Given the description of an element on the screen output the (x, y) to click on. 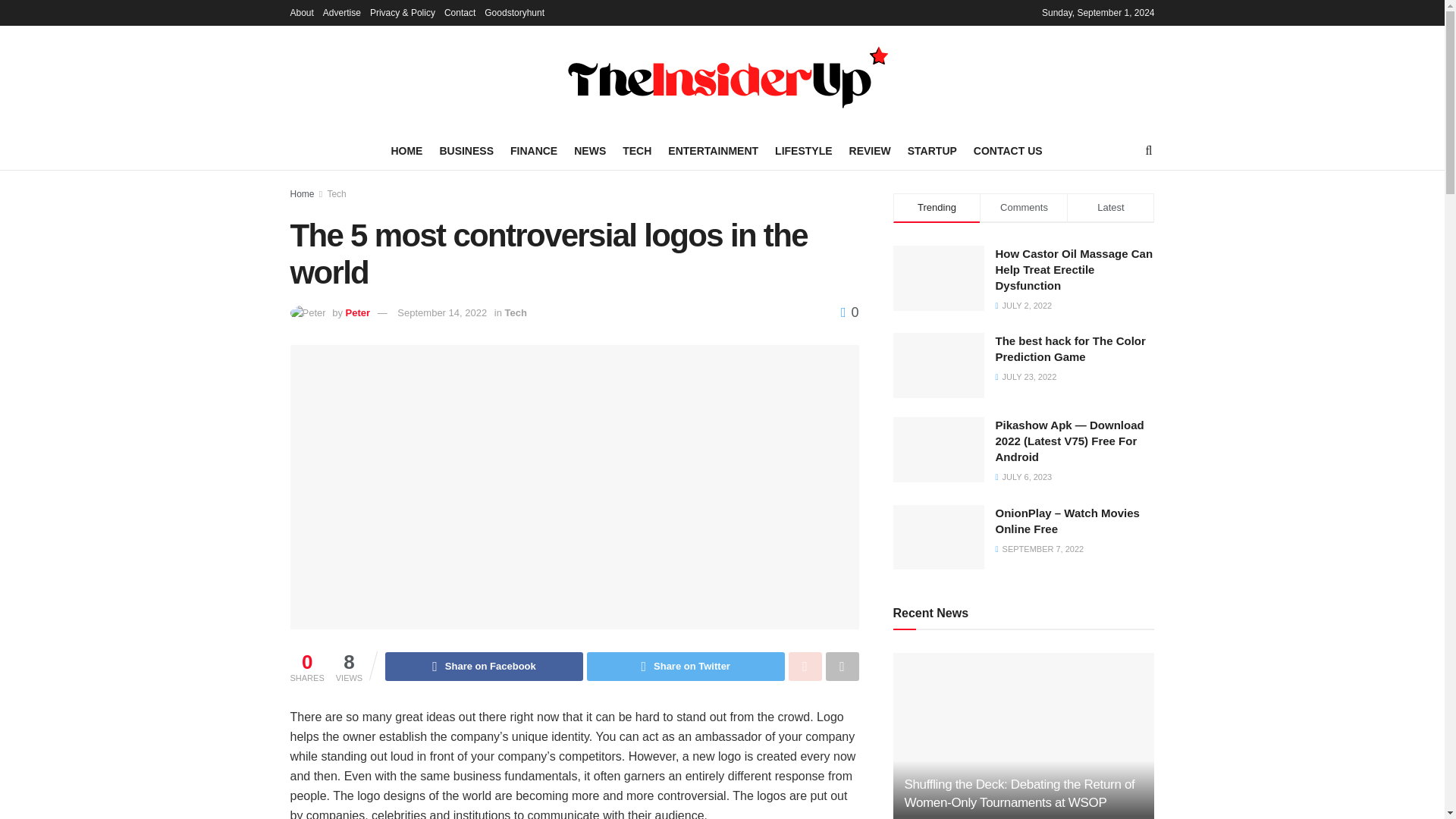
Contact (460, 12)
About (301, 12)
FINANCE (534, 150)
Advertise (342, 12)
BUSINESS (466, 150)
Goodstoryhunt (514, 12)
HOME (406, 150)
